Given the description of an element on the screen output the (x, y) to click on. 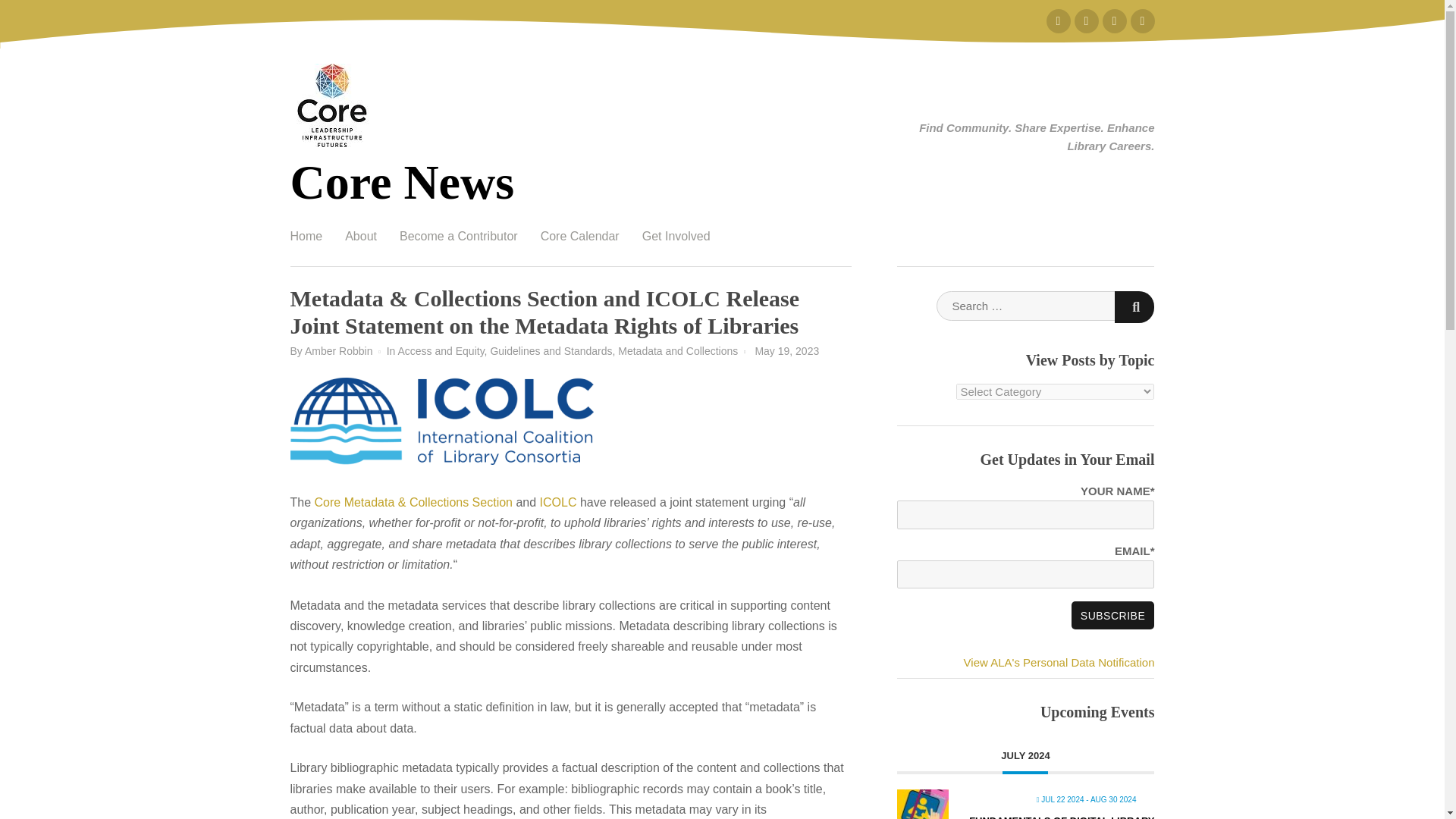
Core Calendar (579, 236)
Subscribe (1112, 615)
Guidelines and Standards (550, 350)
View ALA's Personal Data Notification (1058, 662)
ICOLC (558, 502)
YouTube (1114, 21)
Core News (401, 182)
Amber Robbin (338, 350)
Subscribe (1112, 615)
Twitter (1058, 21)
Access and Equity (440, 350)
SEARCH (1134, 306)
About (360, 236)
Website (1141, 21)
May 19, 2023 (786, 350)
